Given the description of an element on the screen output the (x, y) to click on. 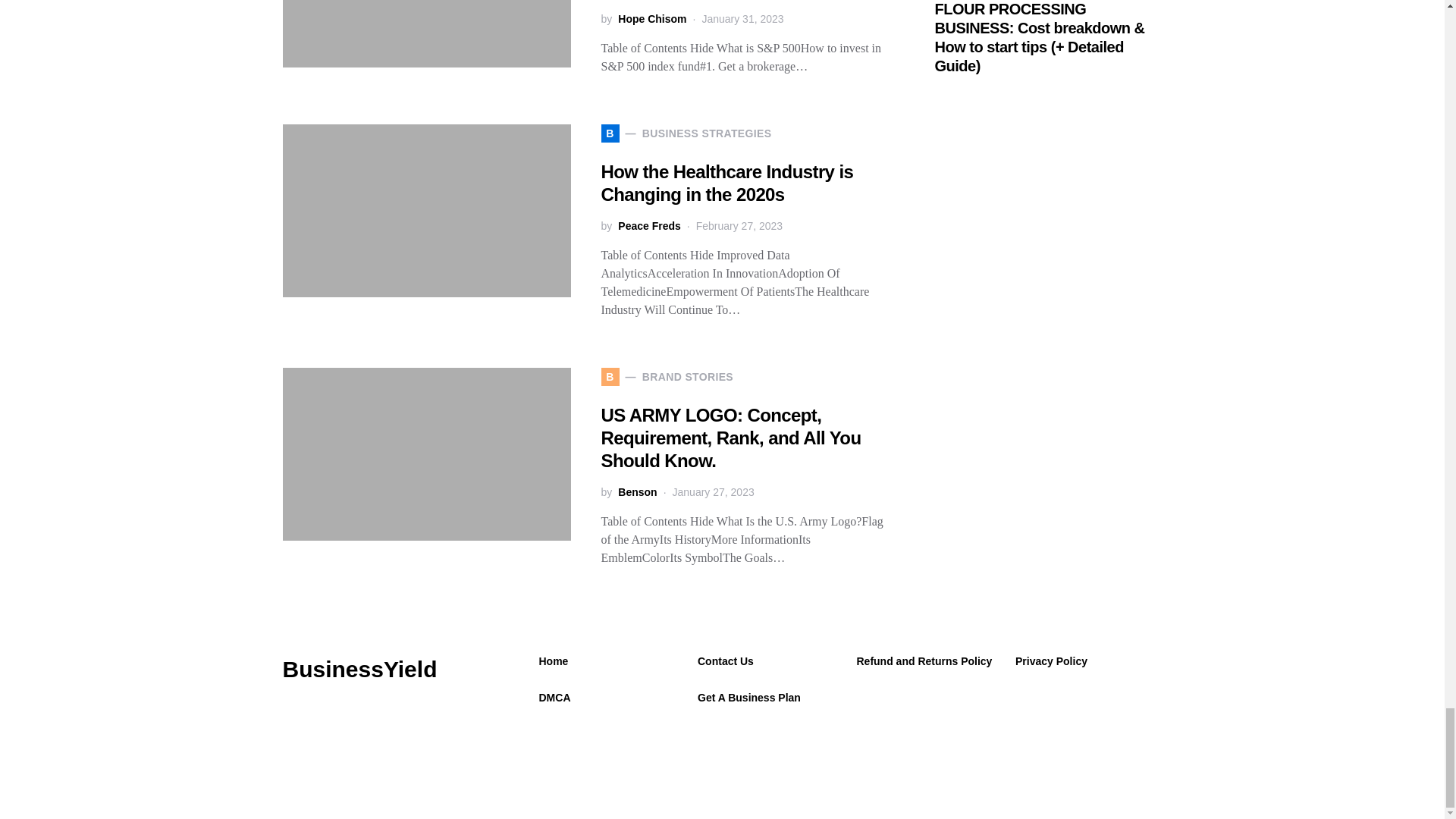
View all posts by Hope Chisom (651, 19)
View all posts by Benson (636, 492)
View all posts by Peace Freds (649, 226)
